Given the description of an element on the screen output the (x, y) to click on. 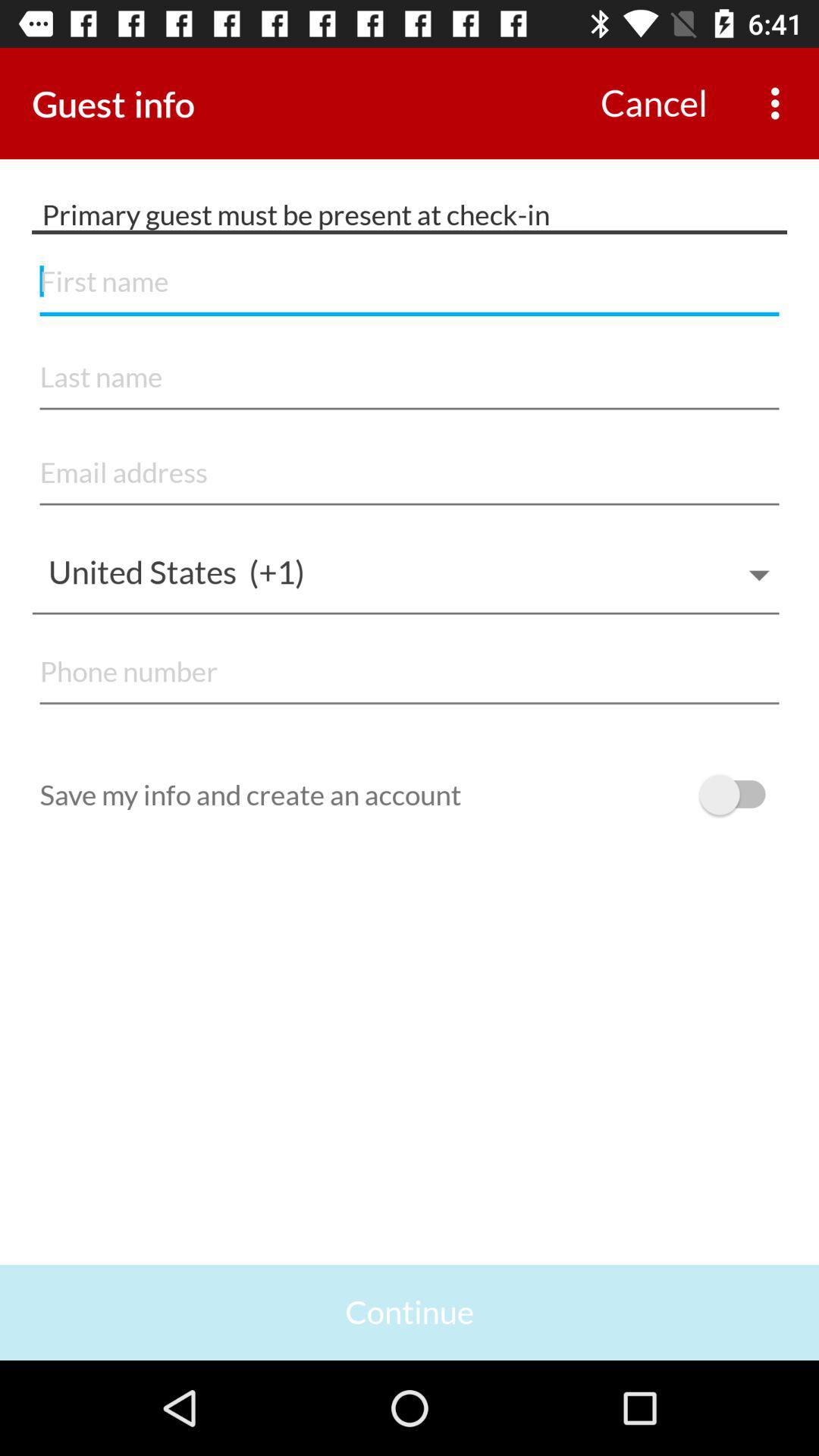
enter phone number (409, 672)
